Given the description of an element on the screen output the (x, y) to click on. 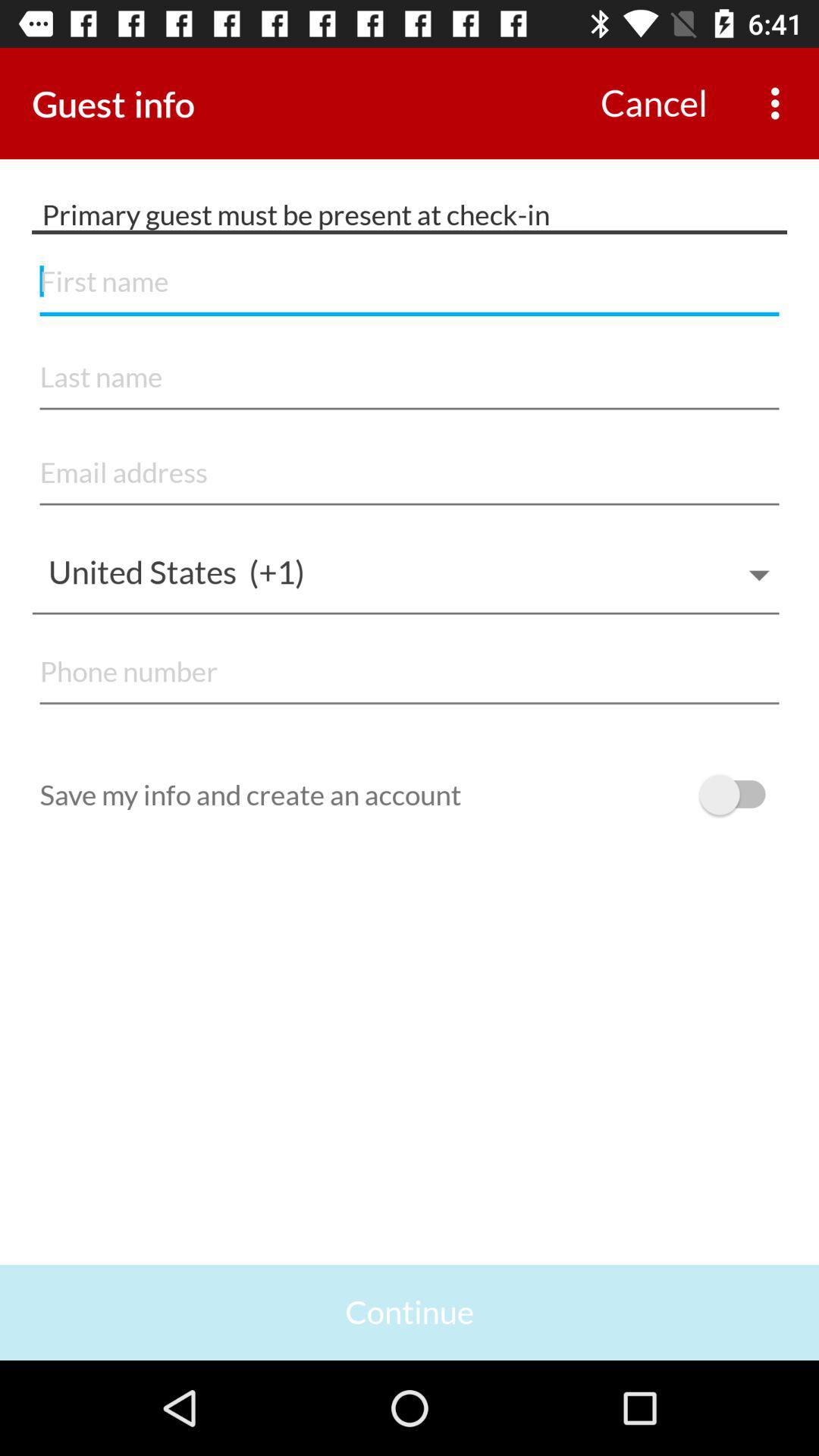
enter phone number (409, 672)
